Given the description of an element on the screen output the (x, y) to click on. 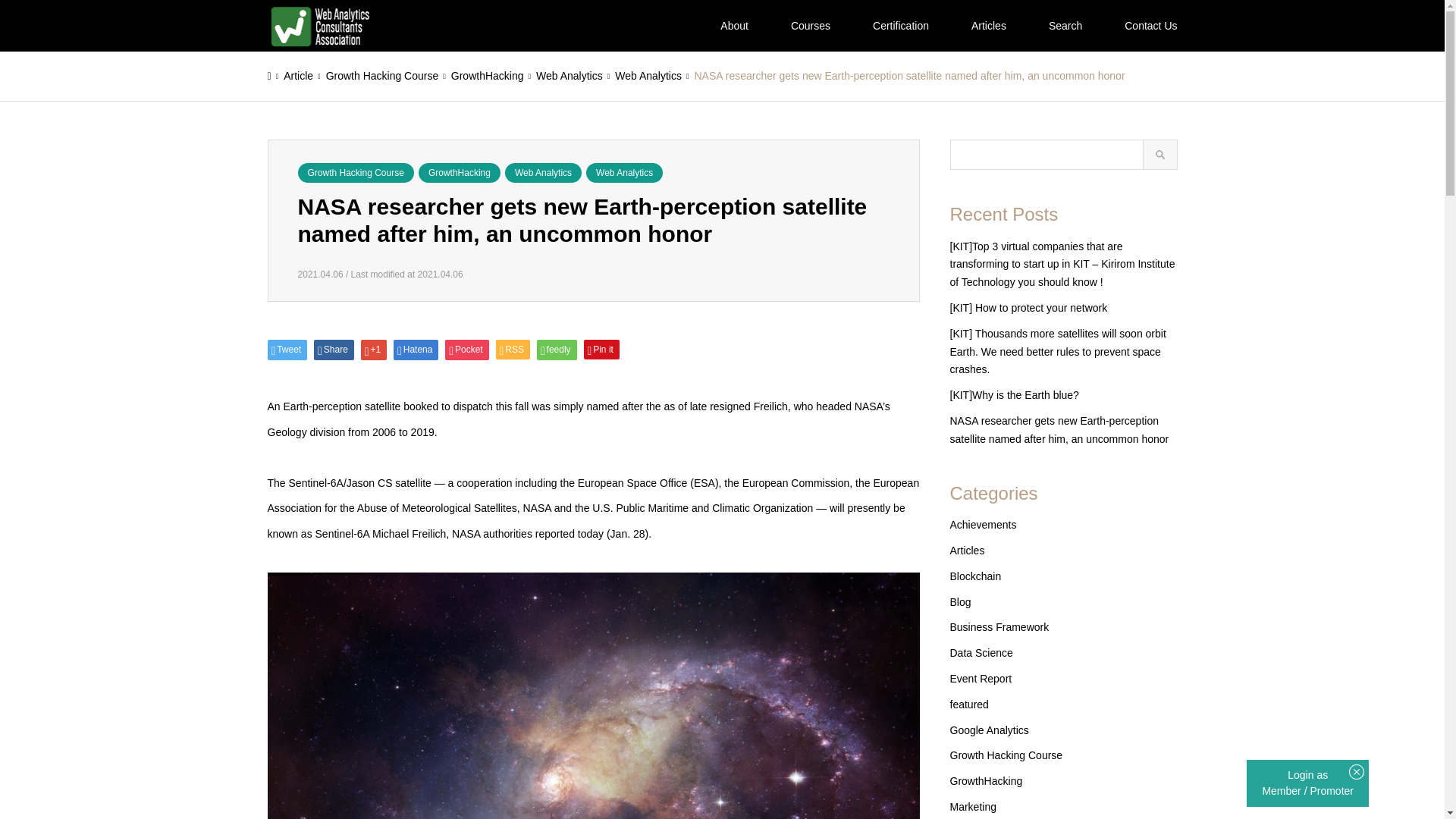
GrowthHacking (487, 75)
Courses (810, 25)
Web Analytics (568, 75)
Growth Hacking Course (382, 75)
About (734, 25)
GrowthHacking (459, 172)
Certification (900, 25)
Web Analytics (624, 172)
Articles (988, 25)
Contact Us (1150, 25)
Web Analytics (647, 75)
Search (1065, 25)
Promoter (1331, 790)
Member (1282, 790)
Web Analytics (542, 172)
